Given the description of an element on the screen output the (x, y) to click on. 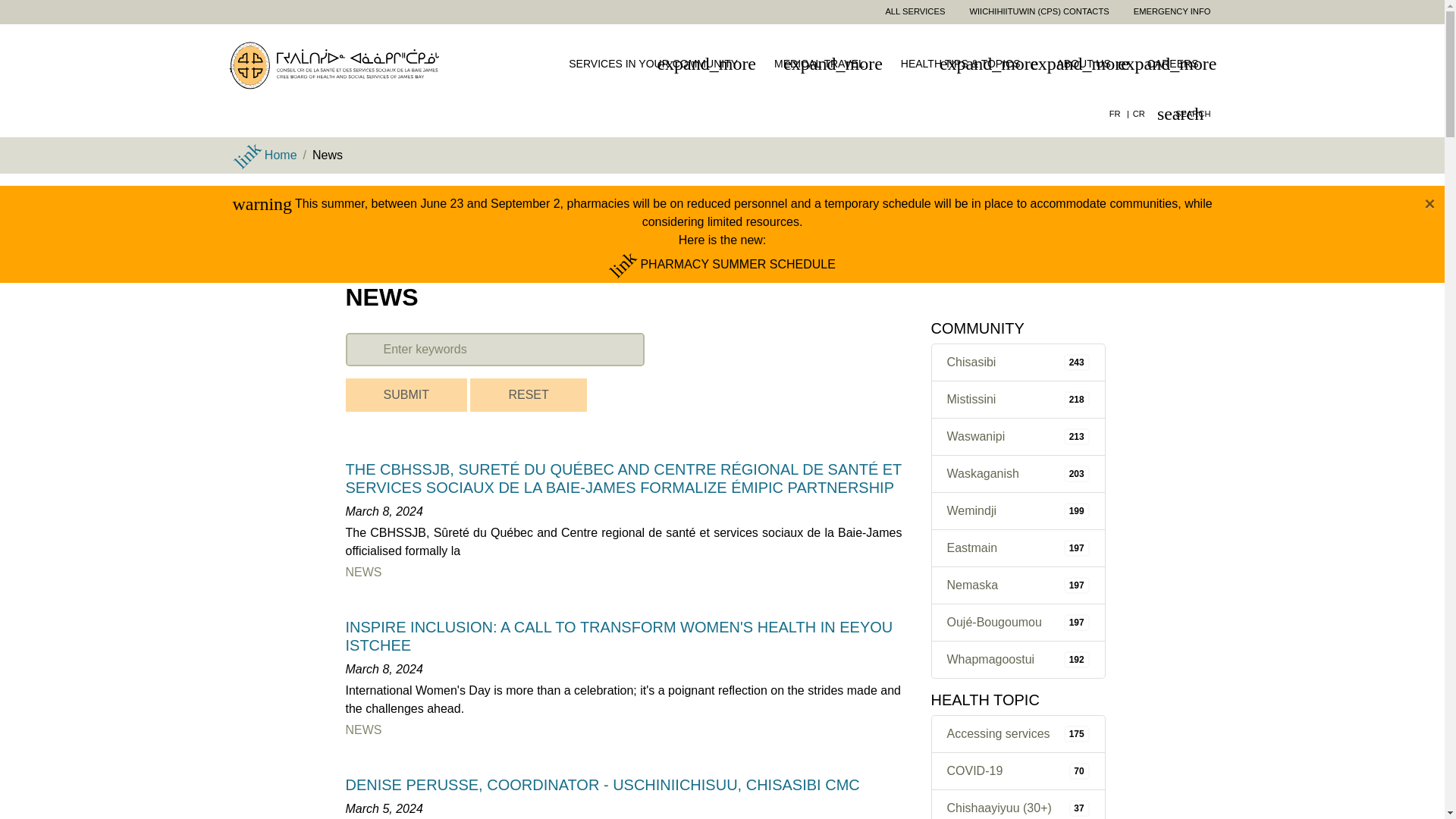
Submit (406, 394)
SERVICES IN YOUR COMMUNITY (658, 64)
ABOUT US (1090, 64)
Home (340, 64)
MEDICAL TRAVEL (825, 64)
Reset (528, 394)
